Given the description of an element on the screen output the (x, y) to click on. 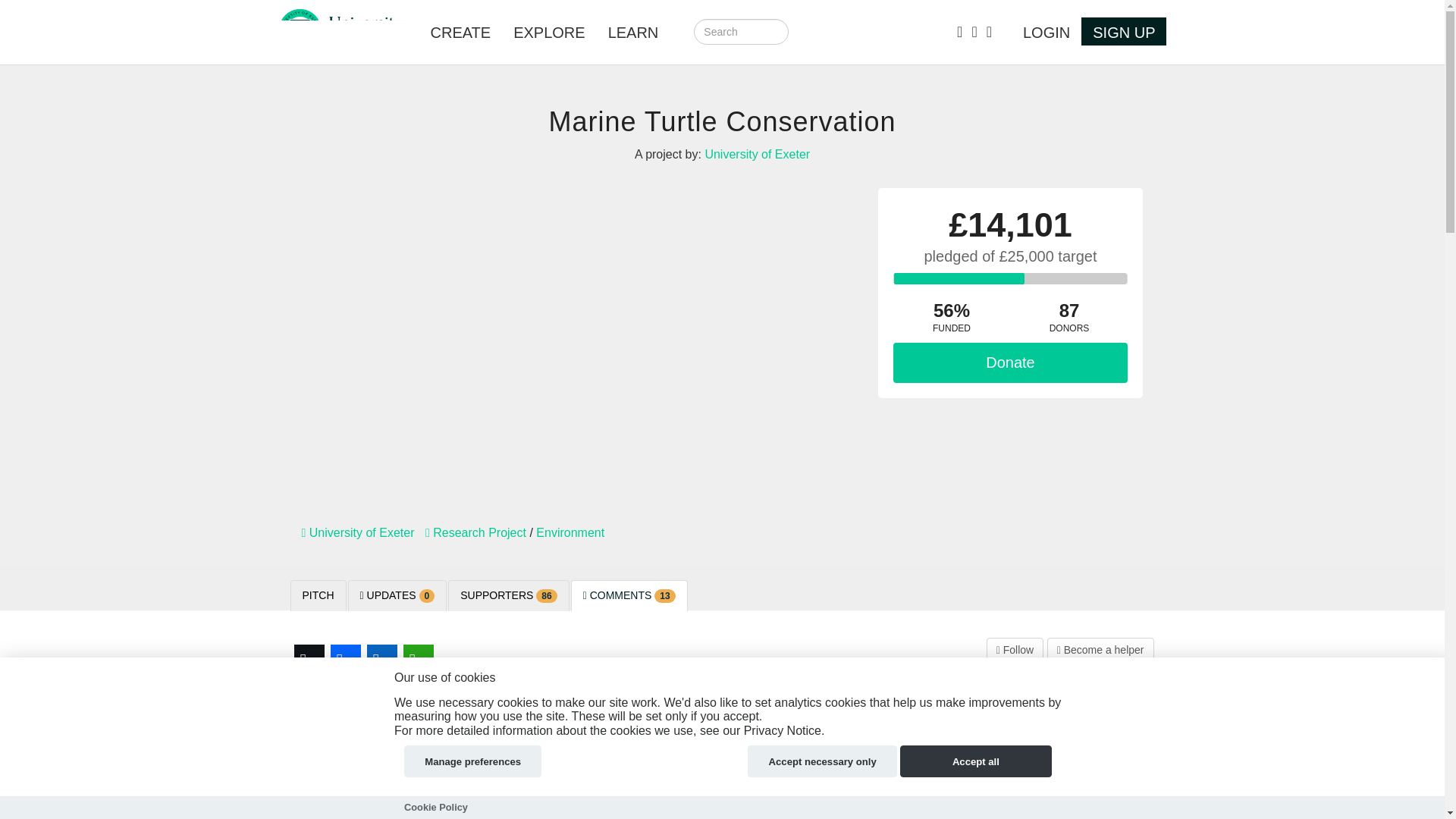
University of Exeter (357, 532)
University of Exeter (756, 154)
Environment (569, 532)
CREATE (460, 32)
PITCH (317, 594)
WhatsApp (418, 659)
LinkedIn (382, 659)
Donate (1010, 363)
LEARN (632, 32)
Research Project (475, 532)
